Given the description of an element on the screen output the (x, y) to click on. 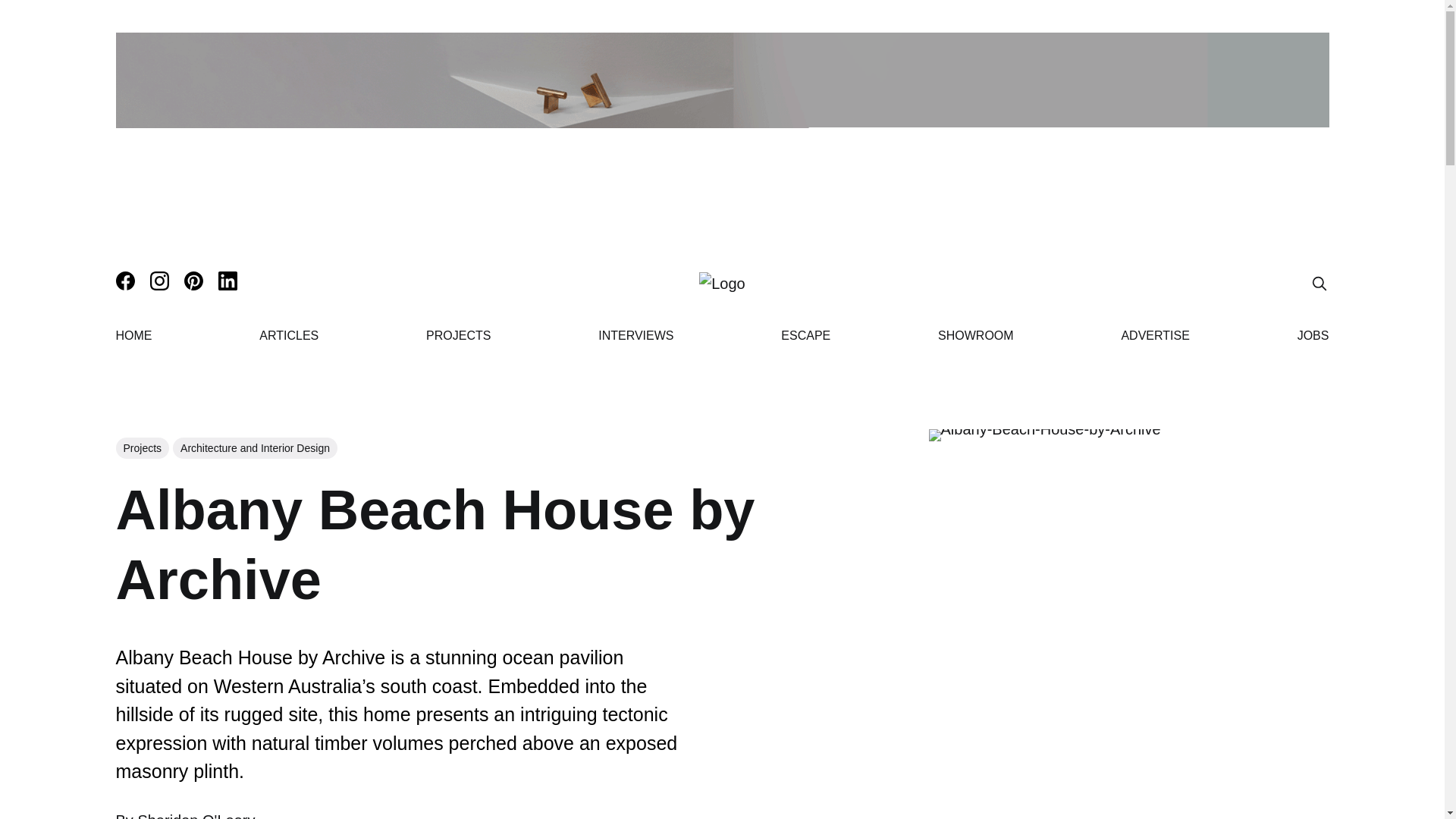
Projects (141, 447)
Facebook (153, 369)
Subscribe (1270, 109)
Architecture and Interior Design (255, 447)
ADVERTISE (1155, 335)
Articles (447, 339)
LinkedIn (149, 339)
Twitter (144, 398)
SHOWROOM (975, 335)
Architecture and Interior Design (516, 310)
